Given the description of an element on the screen output the (x, y) to click on. 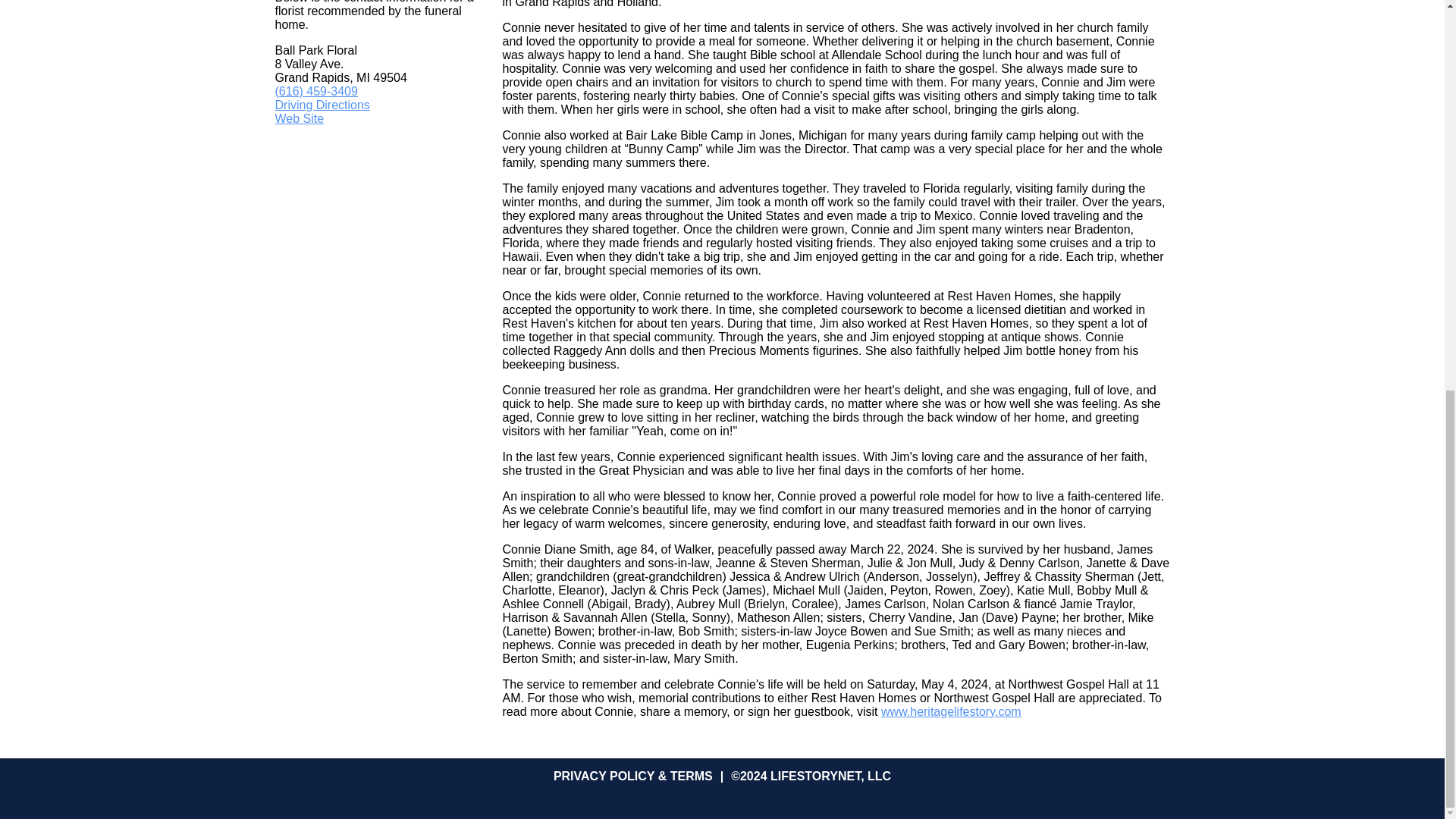
www.heritagelifestory.com (951, 711)
Web Site (299, 118)
Driving Directions (322, 104)
